Given the description of an element on the screen output the (x, y) to click on. 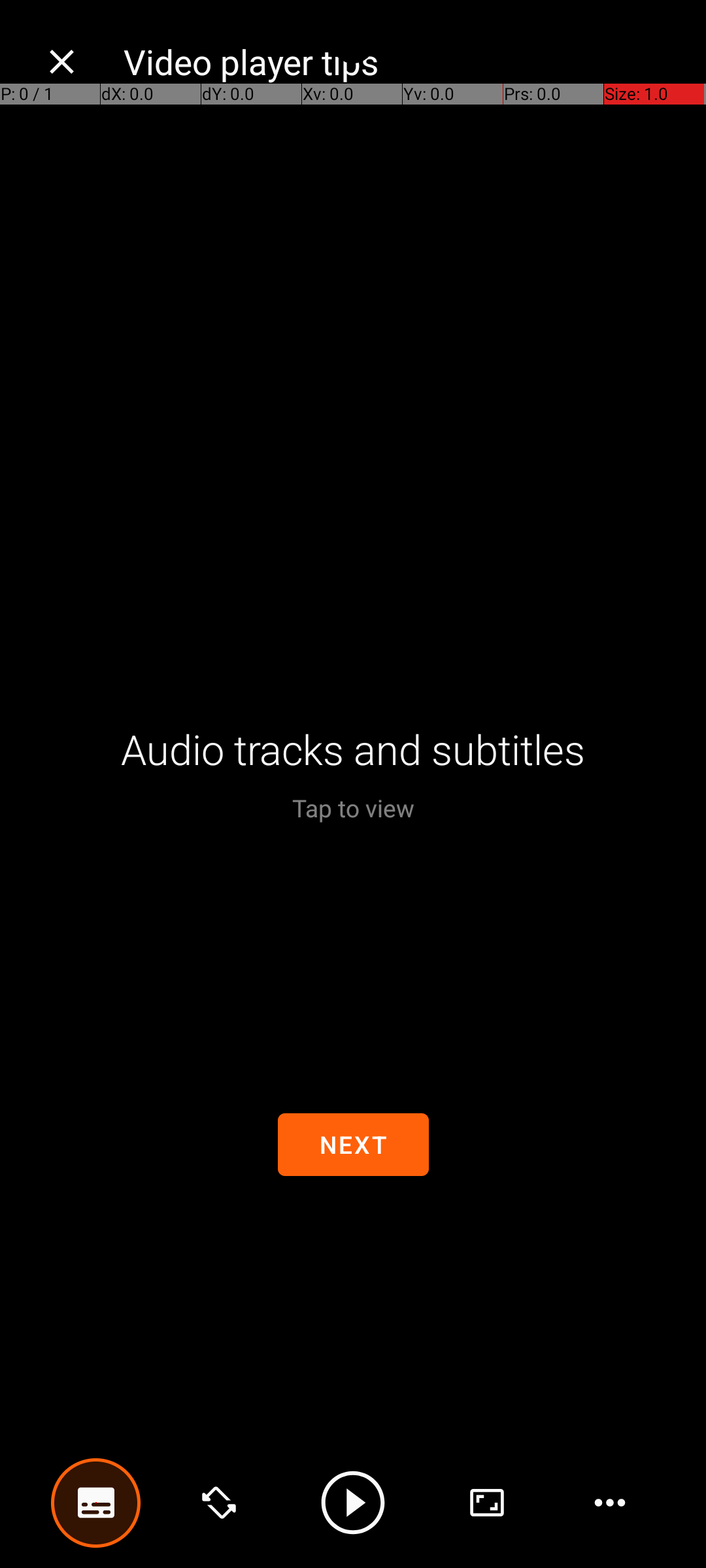
Video player. Tap to show controls. Tap the back button to hide them Element type: android.widget.FrameLayout (353, 784)
Video player tips Element type: android.widget.TextView (400, 61)
Audio tracks and subtitles Element type: android.widget.TextView (352, 748)
Tap to view Element type: android.widget.TextView (353, 807)
advanced options Element type: android.widget.ImageView (486, 1502)
